Given the description of an element on the screen output the (x, y) to click on. 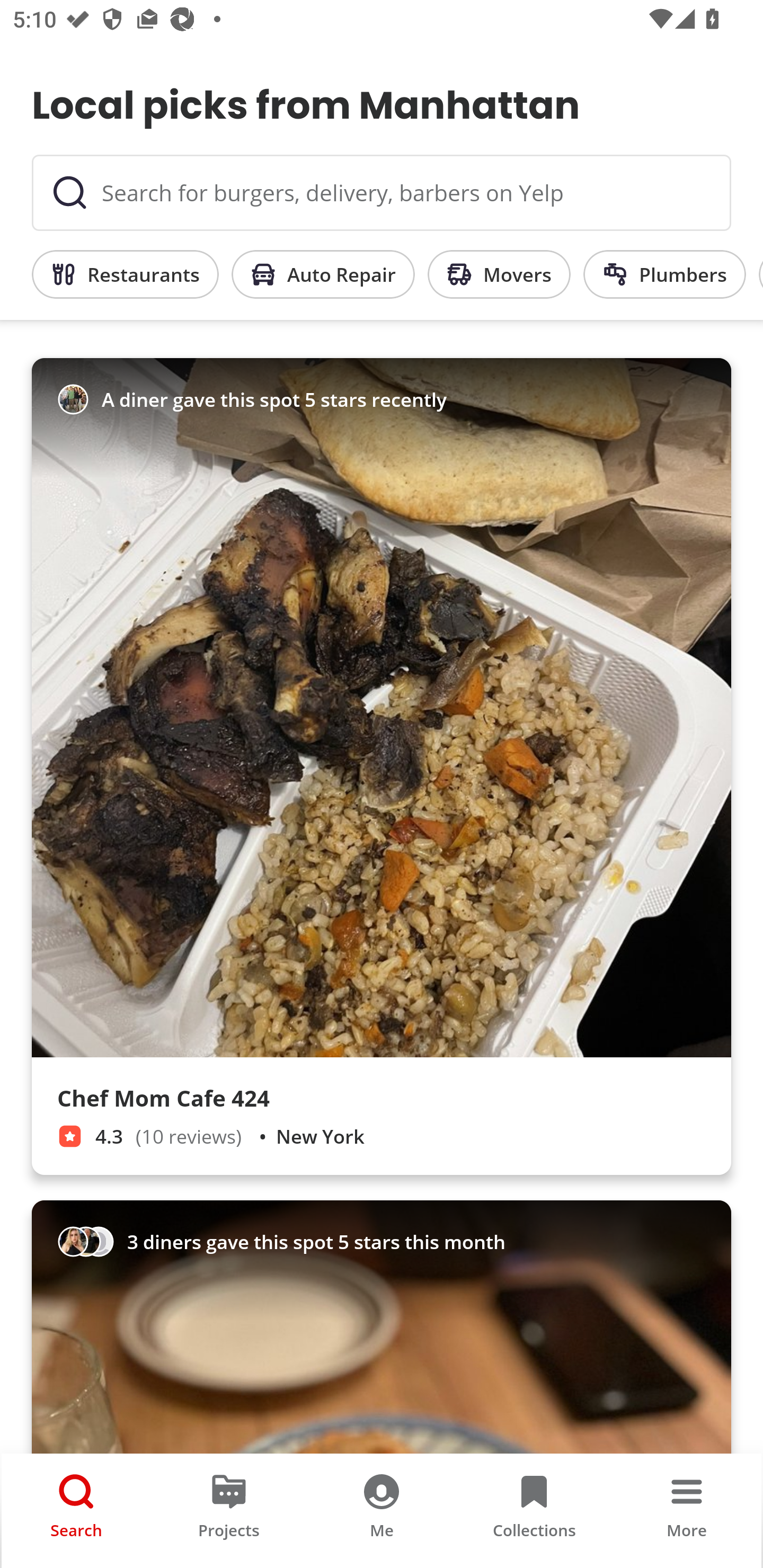
Restaurants (125, 274)
